Given the description of an element on the screen output the (x, y) to click on. 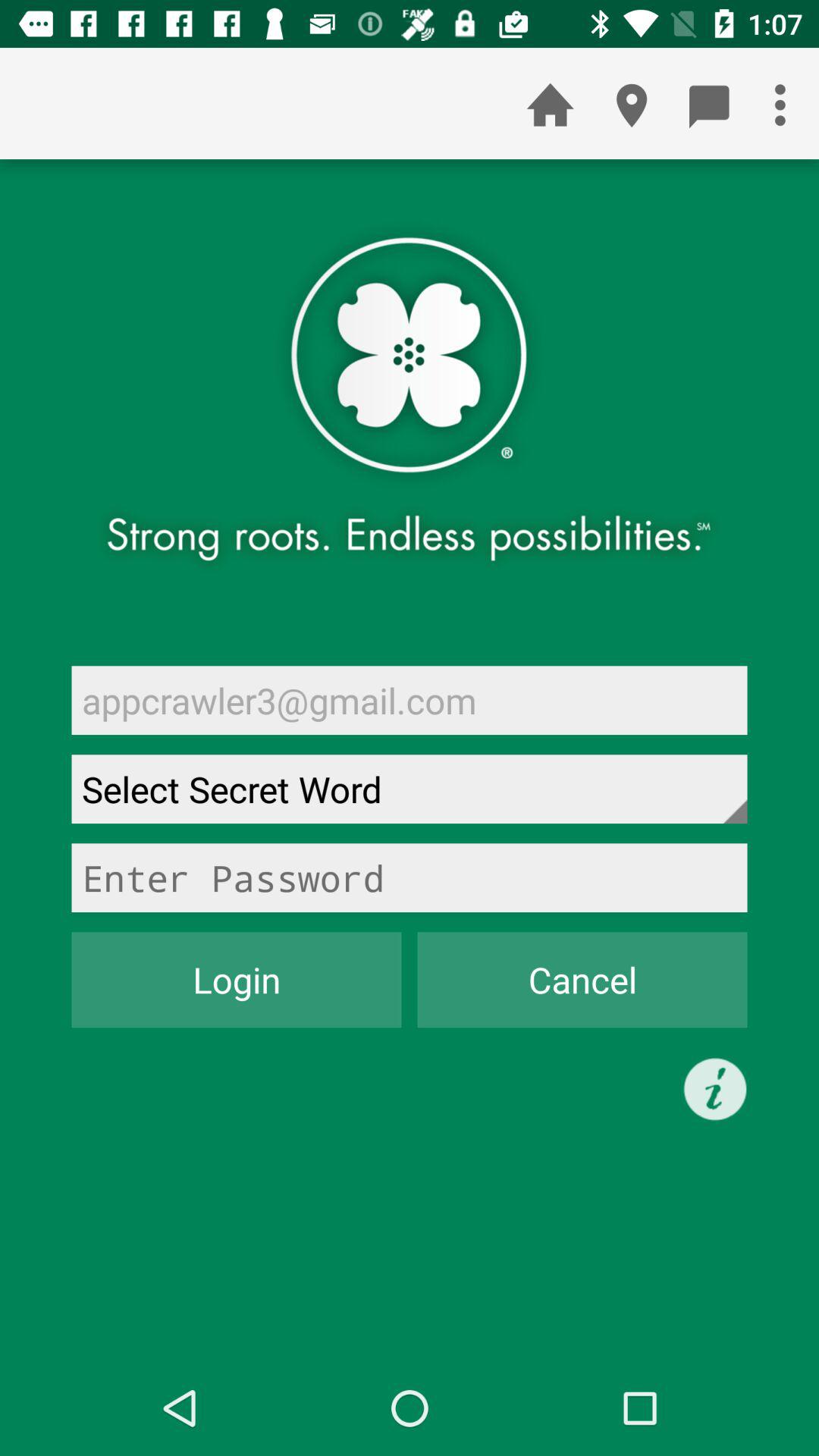
open the icon next to the login item (582, 979)
